Given the description of an element on the screen output the (x, y) to click on. 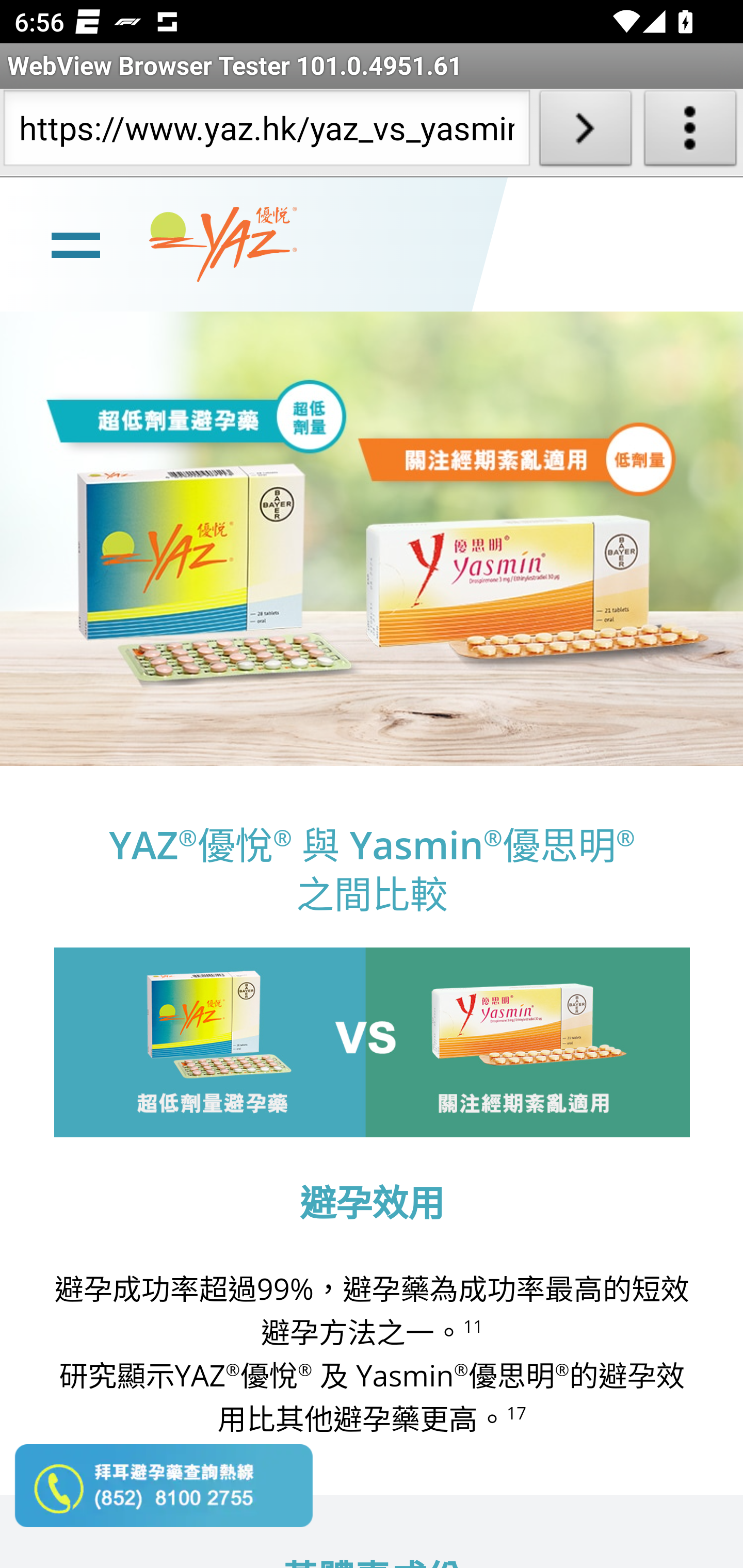
Load URL (585, 132)
About WebView (690, 132)
www.yaz (222, 244)
line Toggle burger menu (75, 242)
